Given the description of an element on the screen output the (x, y) to click on. 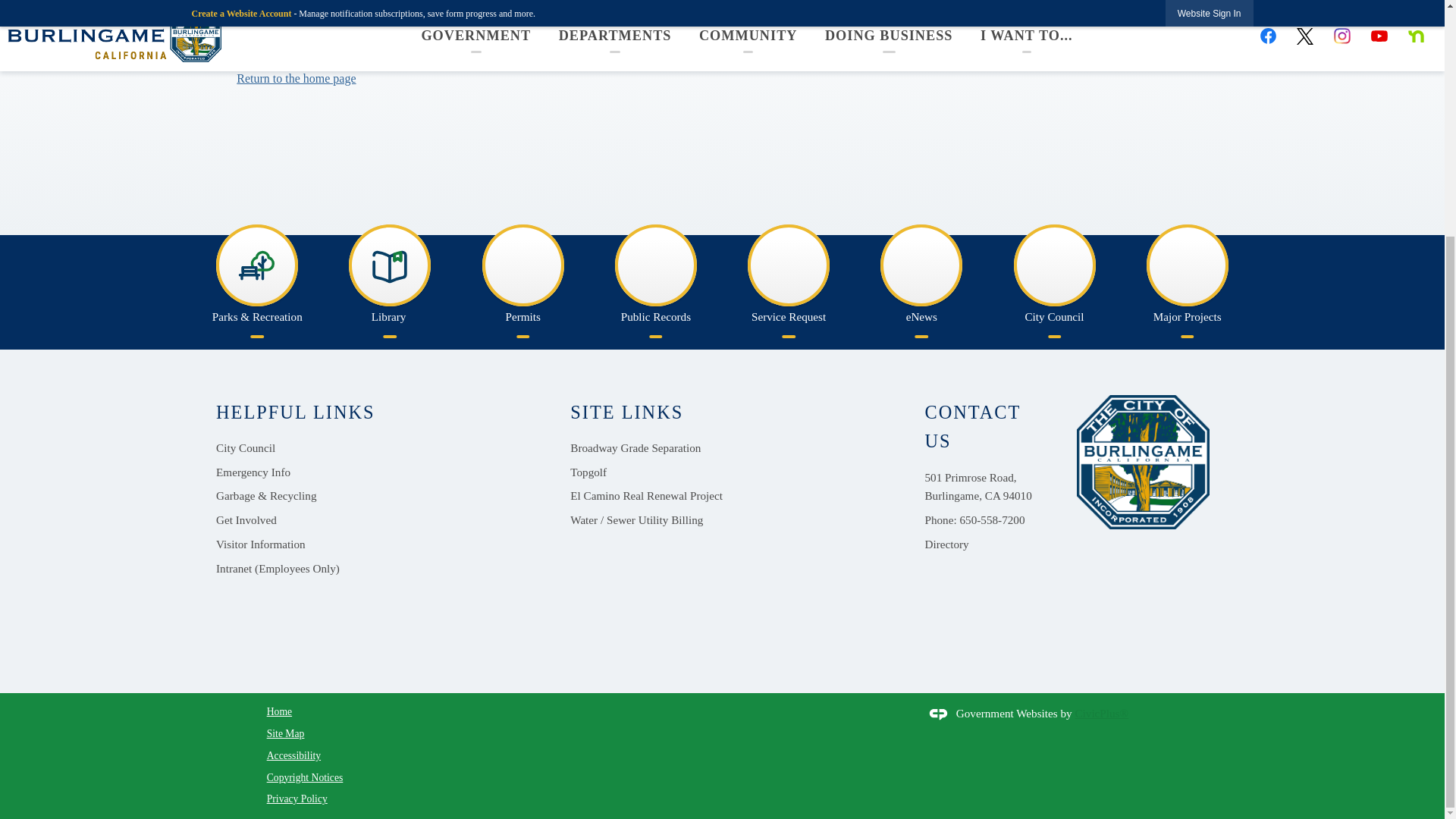
Return to the home page (295, 78)
Major Projects (1187, 277)
HELPFUL LINKS (294, 412)
City Council (245, 447)
Public Records (655, 277)
SITE LINKS (626, 412)
Visitor Information (260, 544)
Emergency Info (252, 472)
eNews (922, 277)
Get Involved (245, 520)
Service Request (788, 277)
City Council (1054, 277)
Permits (523, 277)
Library  (390, 277)
Broadway Grade Separation (635, 447)
